Given the description of an element on the screen output the (x, y) to click on. 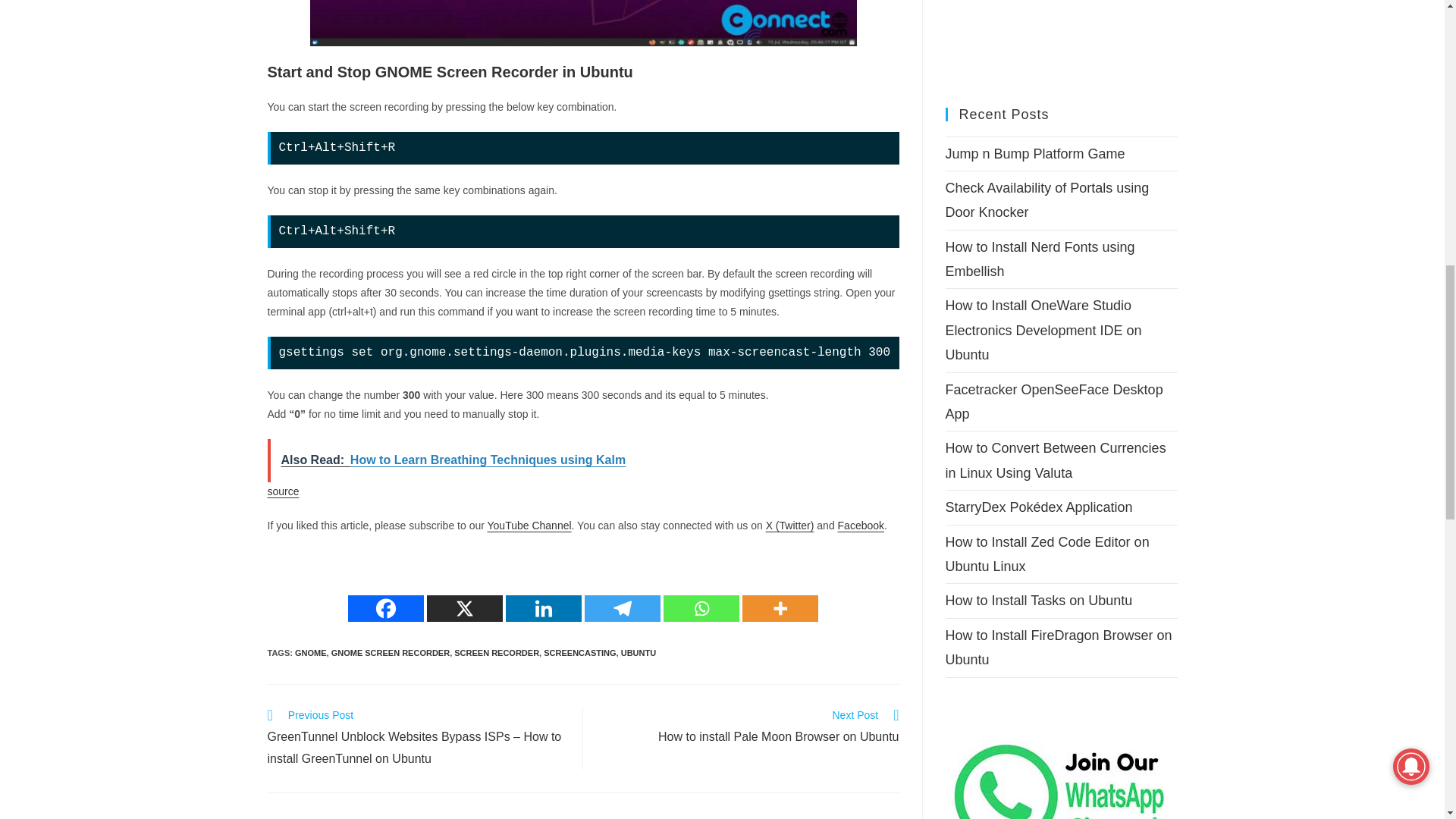
More (780, 608)
Facebook (385, 608)
X (464, 608)
Telegram (623, 608)
Whatsapp (701, 608)
Linkedin (542, 608)
